Given the description of an element on the screen output the (x, y) to click on. 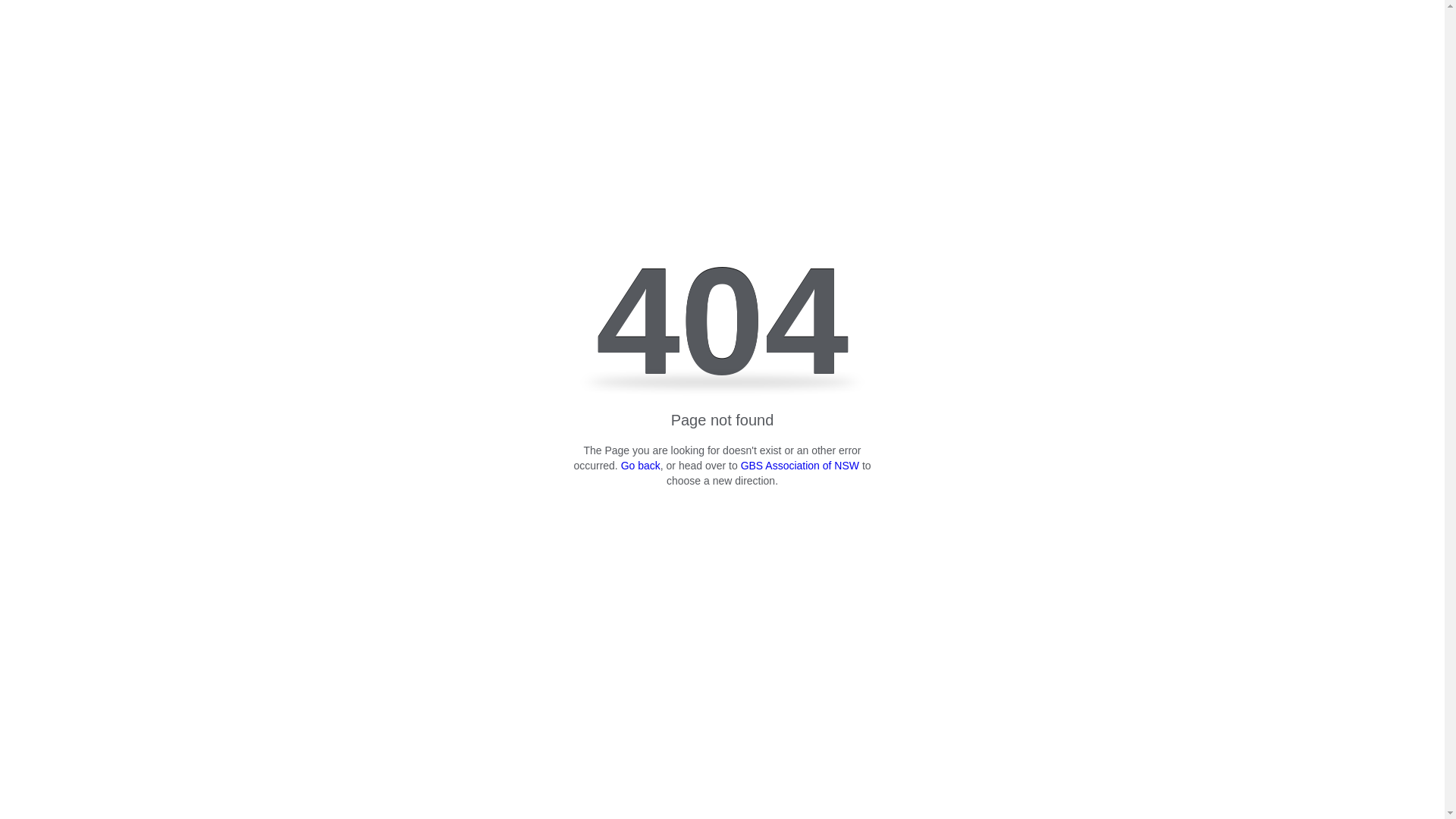
GBS Association of NSW Element type: text (799, 465)
Go back Element type: text (640, 465)
